Given the description of an element on the screen output the (x, y) to click on. 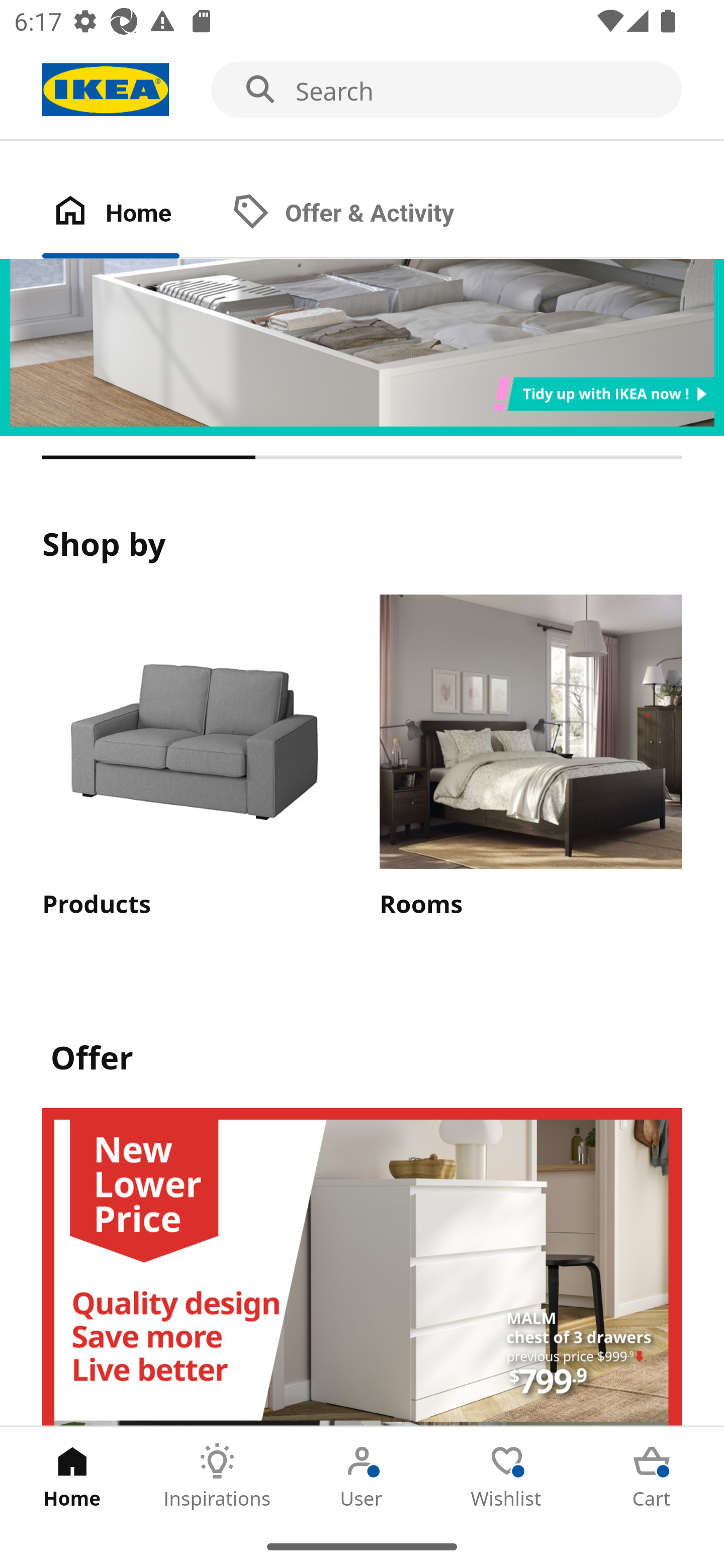
Search (361, 90)
Home
Tab 1 of 2 (131, 213)
Offer & Activity
Tab 2 of 2 (363, 213)
Products (192, 757)
Rooms (530, 757)
Home
Tab 1 of 5 (72, 1476)
Inspirations
Tab 2 of 5 (216, 1476)
User
Tab 3 of 5 (361, 1476)
Wishlist
Tab 4 of 5 (506, 1476)
Cart
Tab 5 of 5 (651, 1476)
